Given the description of an element on the screen output the (x, y) to click on. 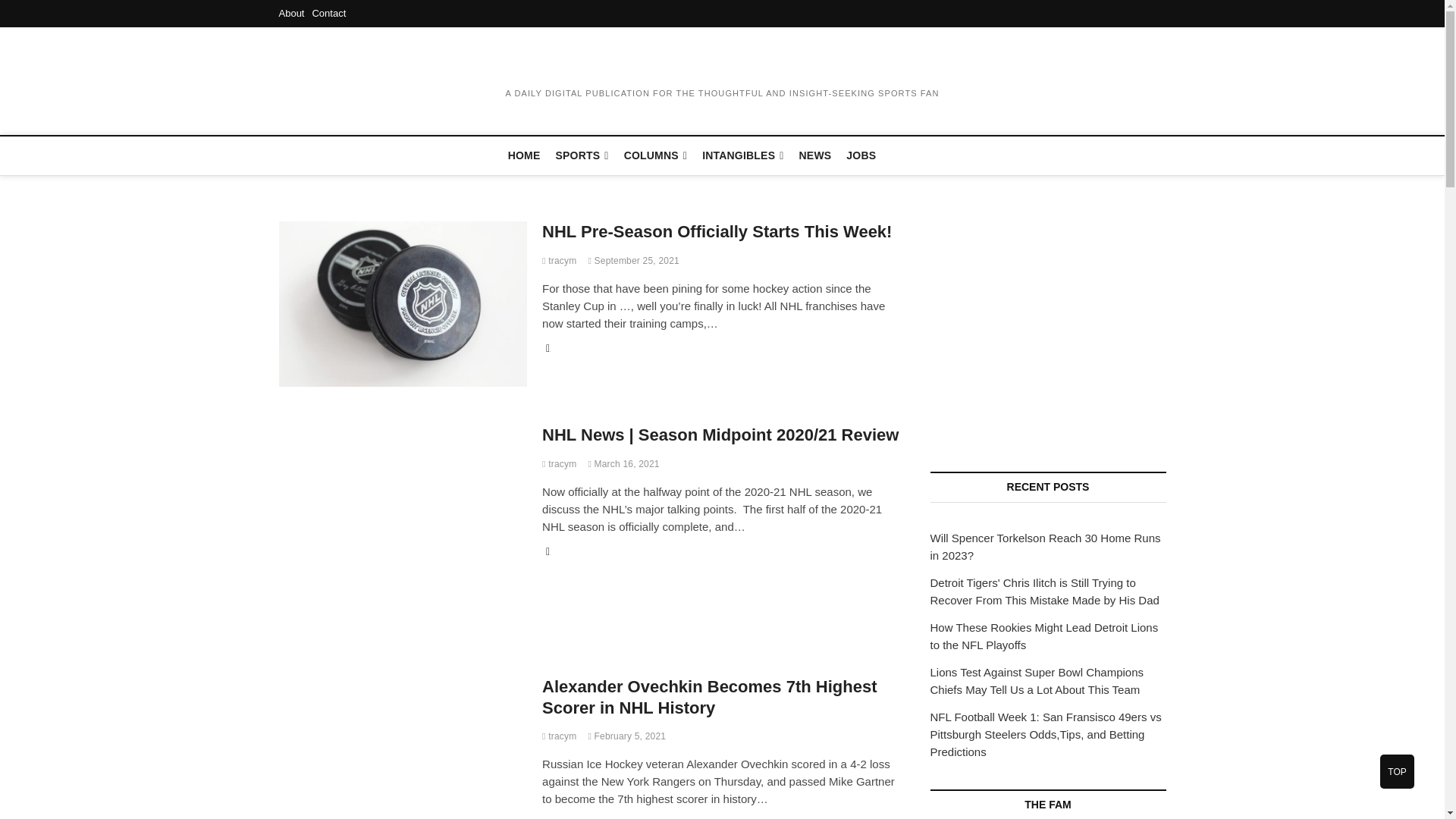
Contact (328, 12)
SPORTS (581, 155)
COLUMNS (655, 155)
Alexander Ovechkin Becomes 7th Highest Scorer in NHL History (403, 747)
INTANGIBLES (742, 155)
NEWS (816, 155)
Alexander Ovechkin Becomes 7th Highest Scorer in NHL History (558, 736)
JOBS (860, 155)
February 5, 2021 (626, 736)
September 25, 2021 (633, 260)
